Given the description of an element on the screen output the (x, y) to click on. 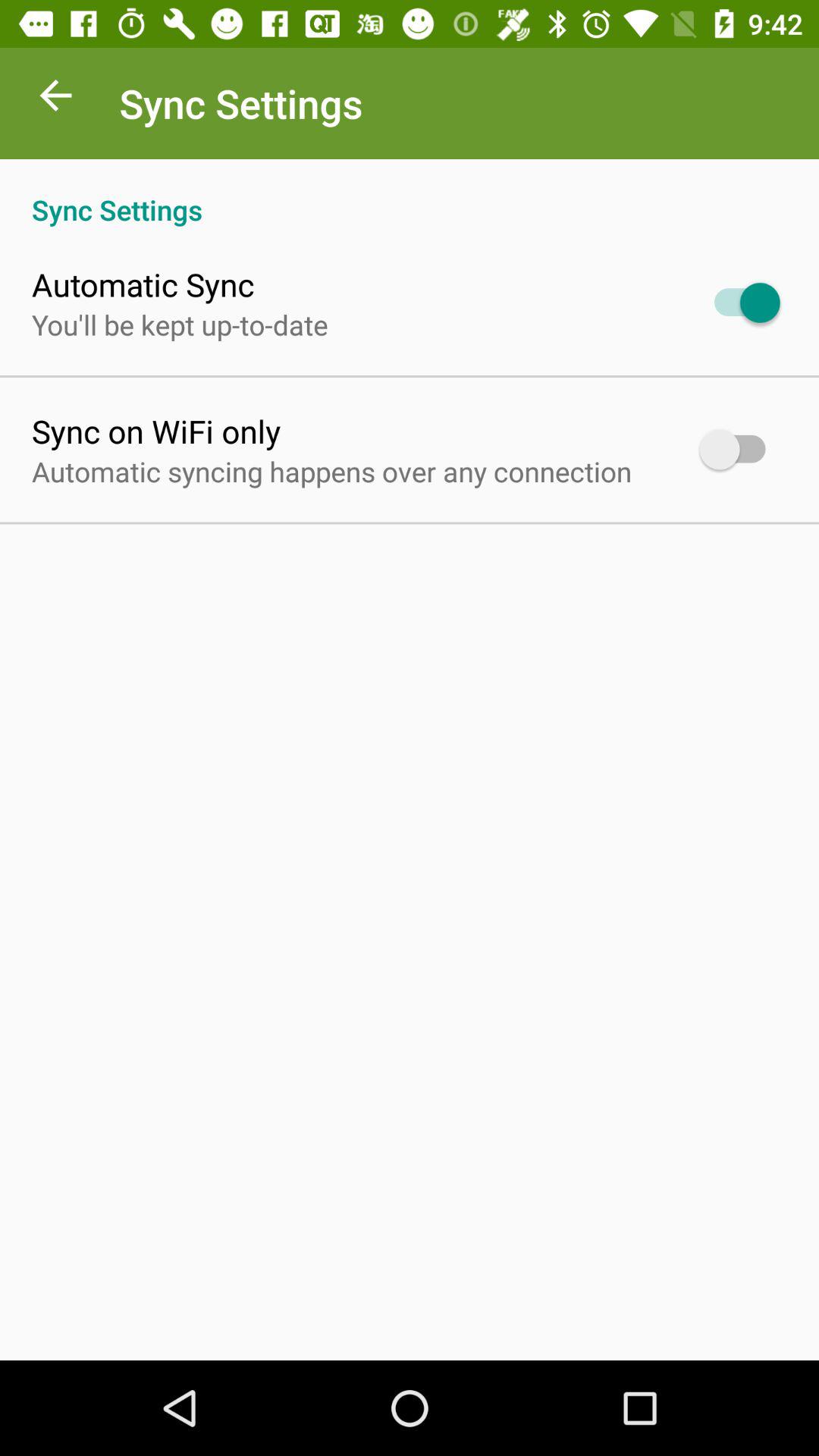
click the app below the automatic sync item (179, 324)
